Given the description of an element on the screen output the (x, y) to click on. 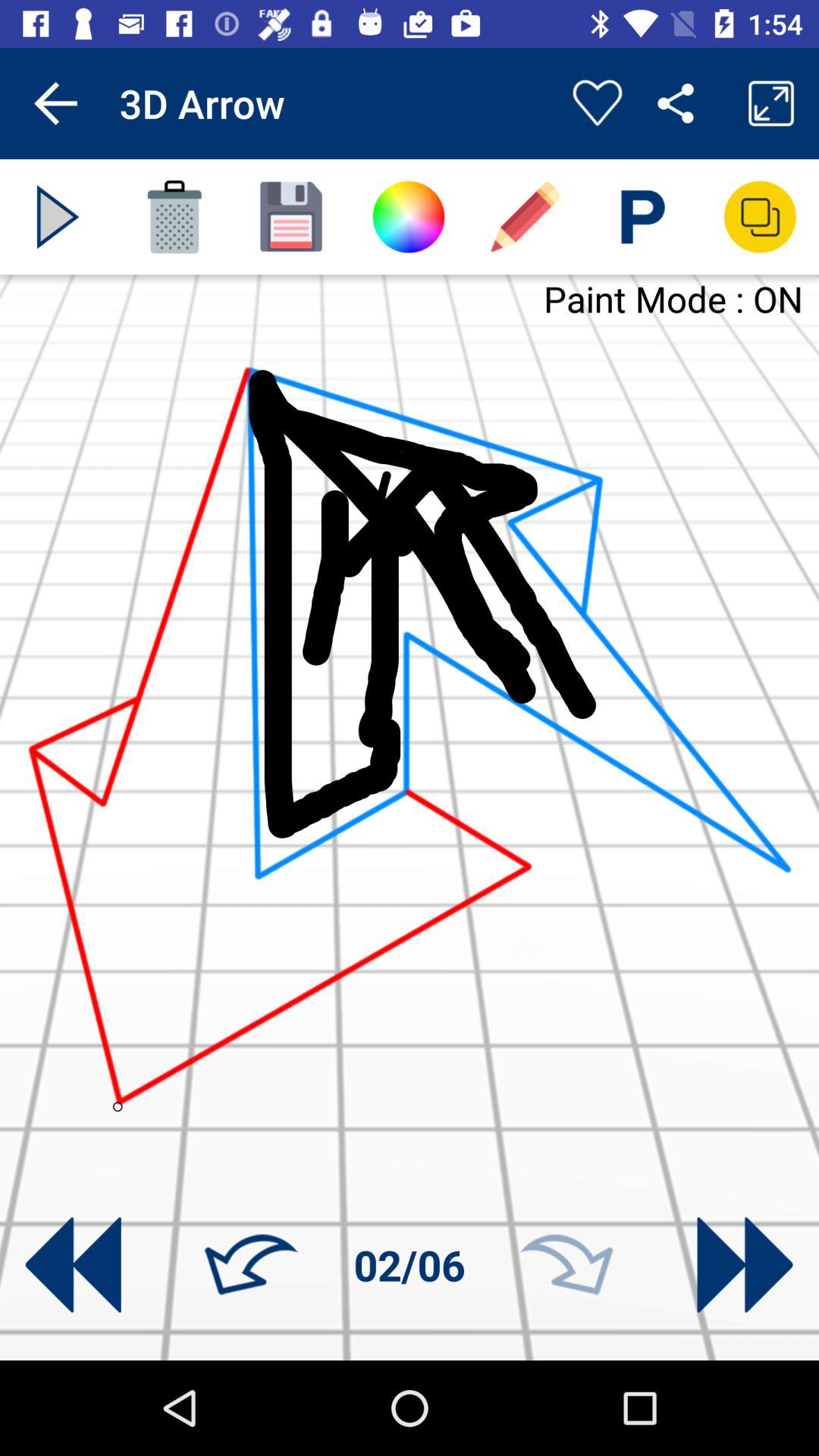
create new layer (759, 216)
